Given the description of an element on the screen output the (x, y) to click on. 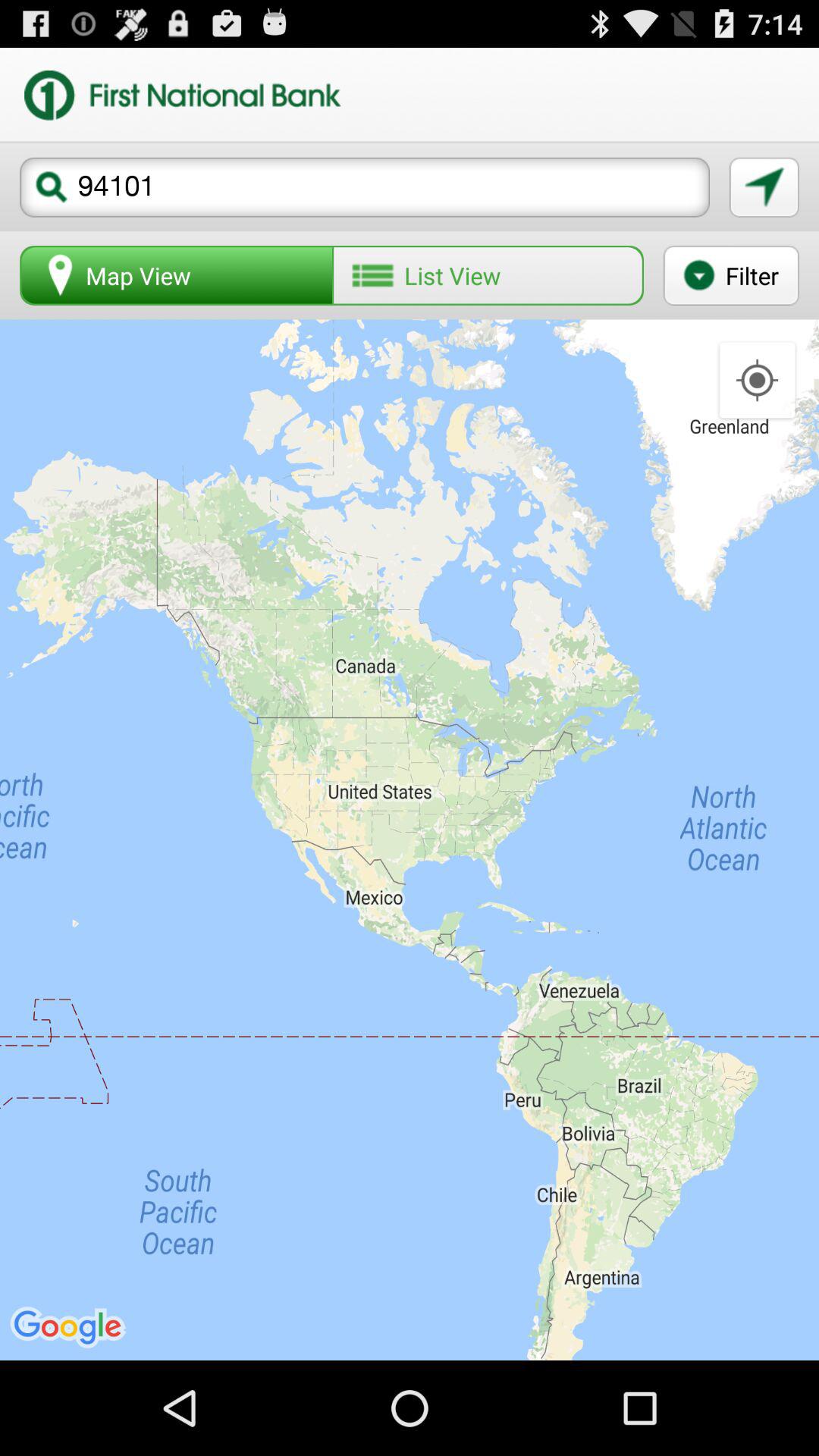
press icon below 94101 (731, 275)
